Given the description of an element on the screen output the (x, y) to click on. 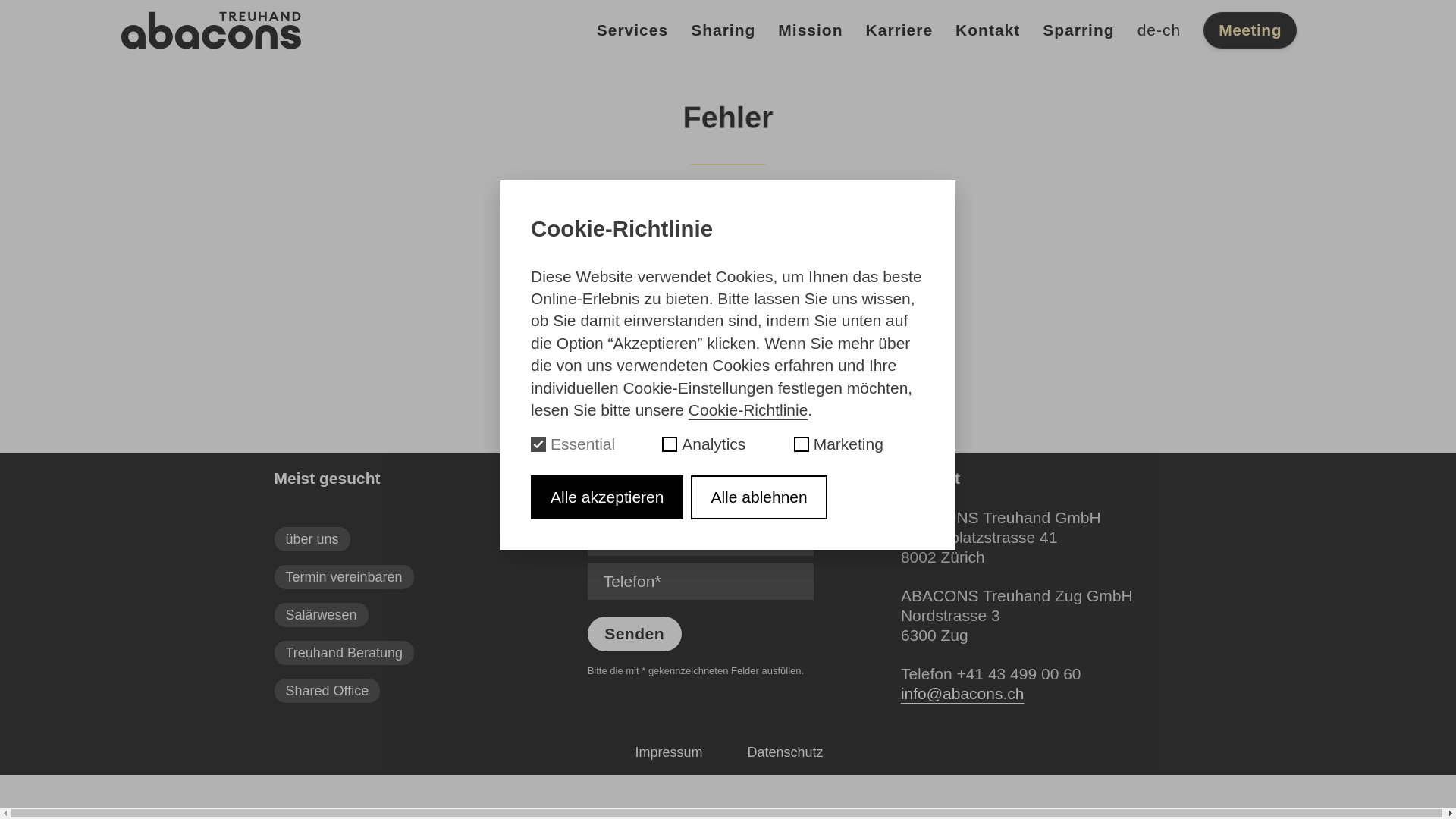
Services Element type: text (632, 30)
Alle akzeptieren Element type: text (606, 497)
Kontakt Element type: text (987, 30)
info@abacons.ch Element type: text (962, 693)
Sharing Element type: text (722, 30)
Alle ablehnen Element type: text (758, 497)
Termin vereinbaren Element type: text (343, 576)
Treuhand Beratung Element type: text (343, 652)
Meeting Element type: text (1249, 30)
Cookie-Richtlinie Element type: text (748, 409)
de-ch Element type: text (1159, 30)
Sparring Element type: text (1078, 30)
Mission Element type: text (809, 30)
Impressum Element type: text (668, 751)
Senden Element type: text (634, 633)
Shared Office Element type: text (326, 690)
Karriere Element type: text (899, 30)
Datenschutz Element type: text (784, 751)
